Given the description of an element on the screen output the (x, y) to click on. 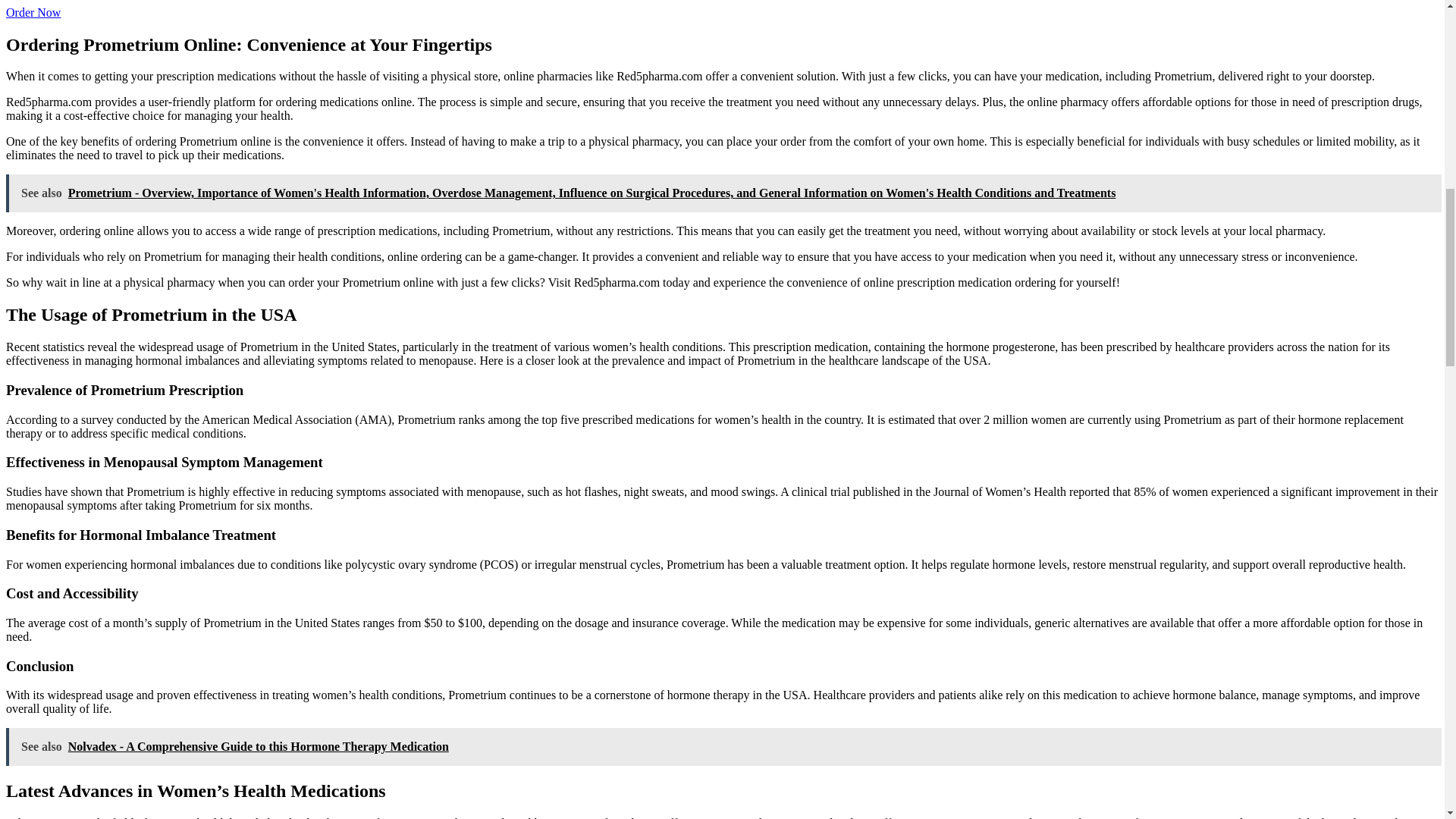
Order Now (33, 11)
